Given the description of an element on the screen output the (x, y) to click on. 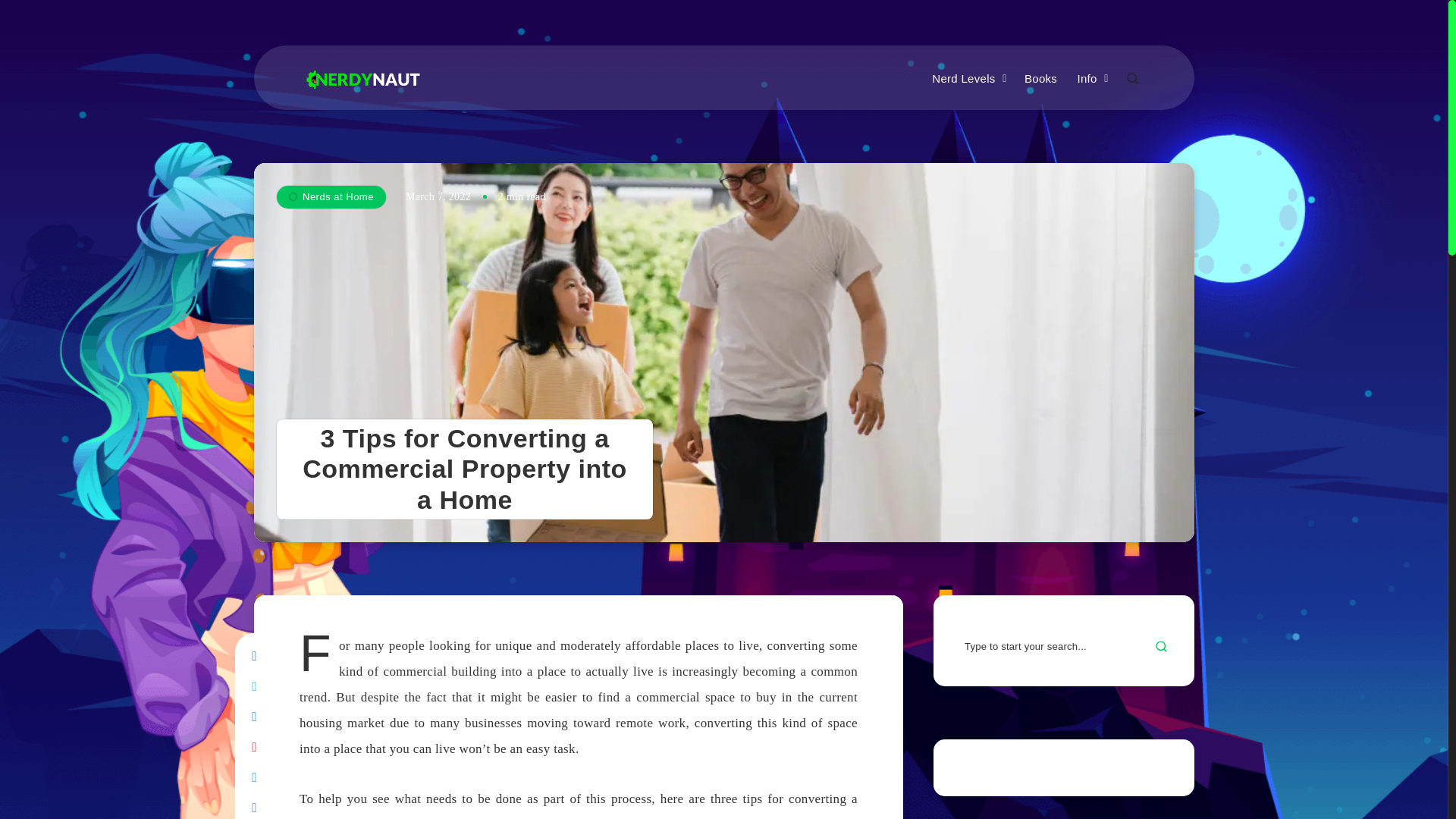
Info (1086, 79)
Nerd Levels (962, 79)
Books (1041, 79)
